Given the description of an element on the screen output the (x, y) to click on. 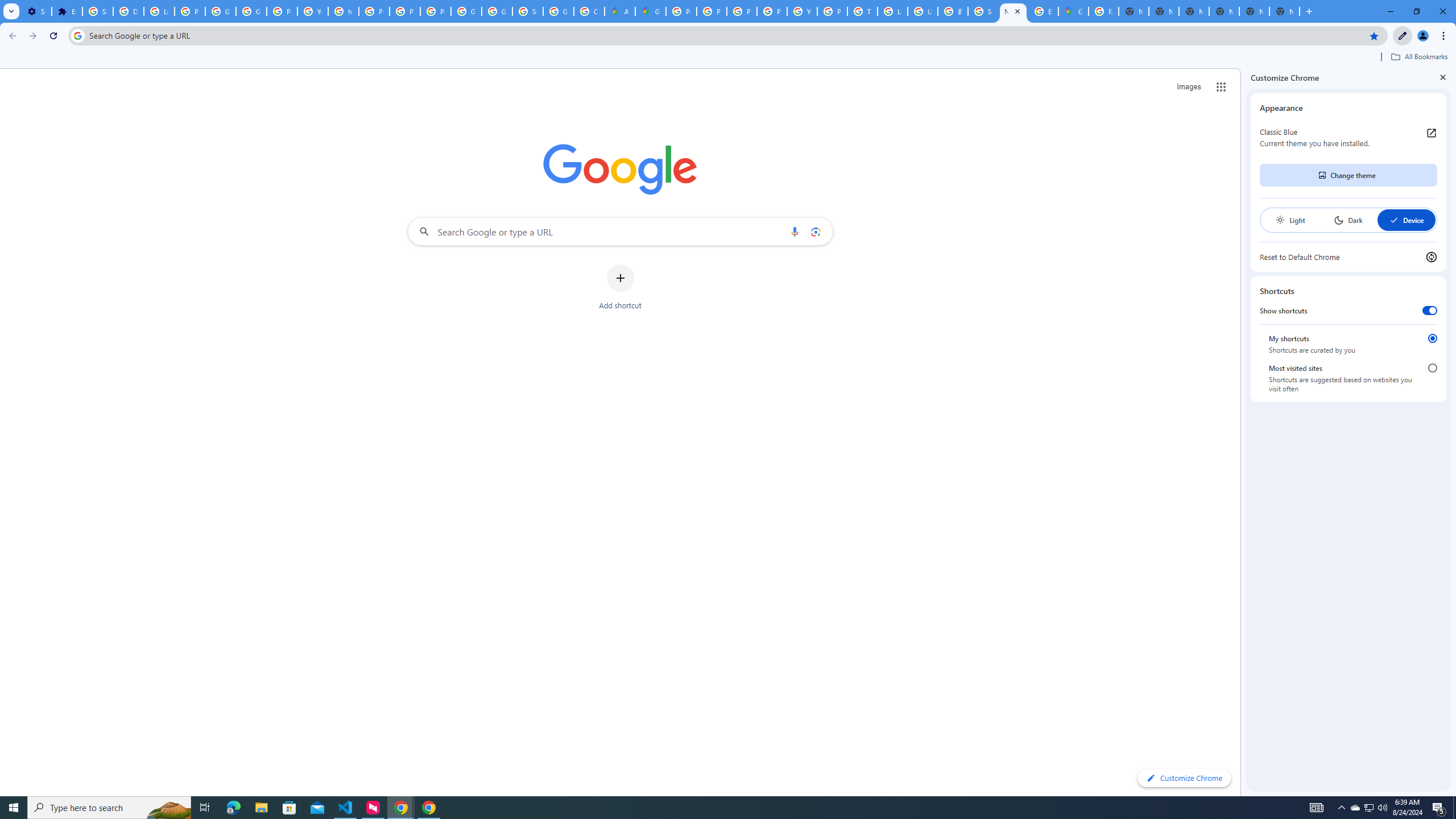
My shortcuts (1432, 338)
Settings - On startup (36, 11)
Classic Blue Current theme you have installed. (1347, 137)
https://scholar.google.com/ (343, 11)
Google Account Help (220, 11)
